Given the description of an element on the screen output the (x, y) to click on. 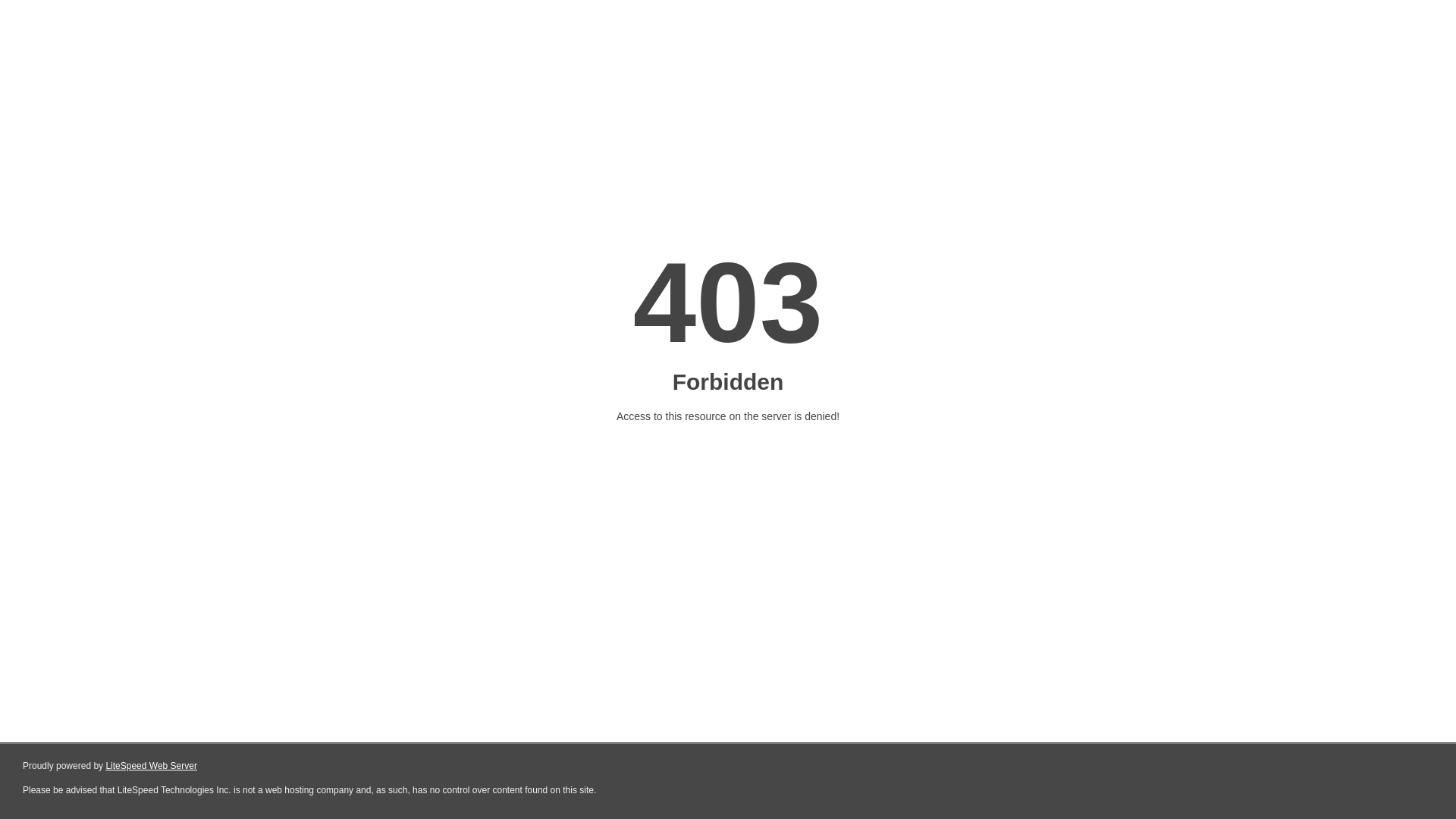
LiteSpeed Web Server Element type: text (151, 765)
